Given the description of an element on the screen output the (x, y) to click on. 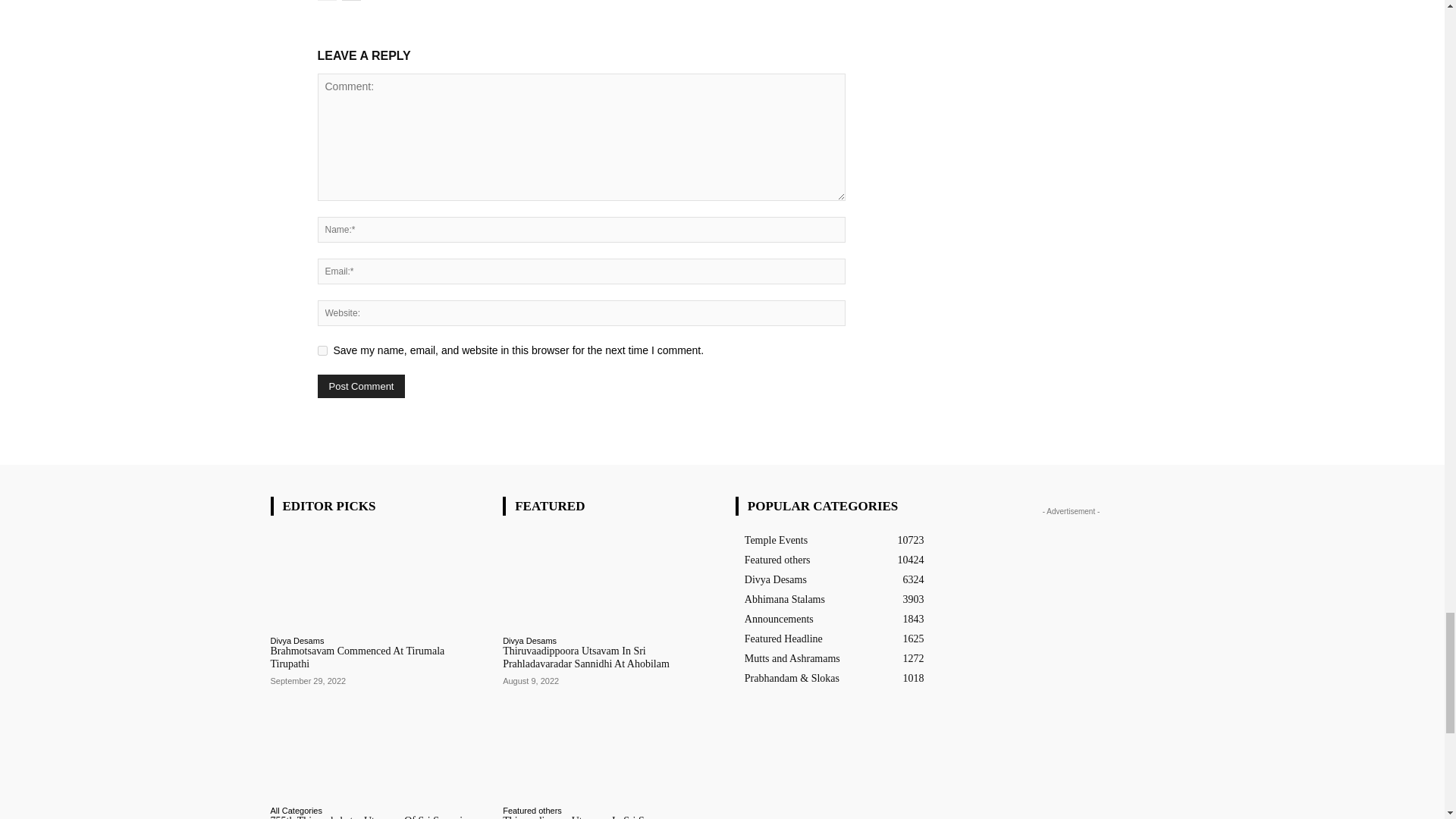
Post Comment (360, 386)
yes (321, 350)
